Given the description of an element on the screen output the (x, y) to click on. 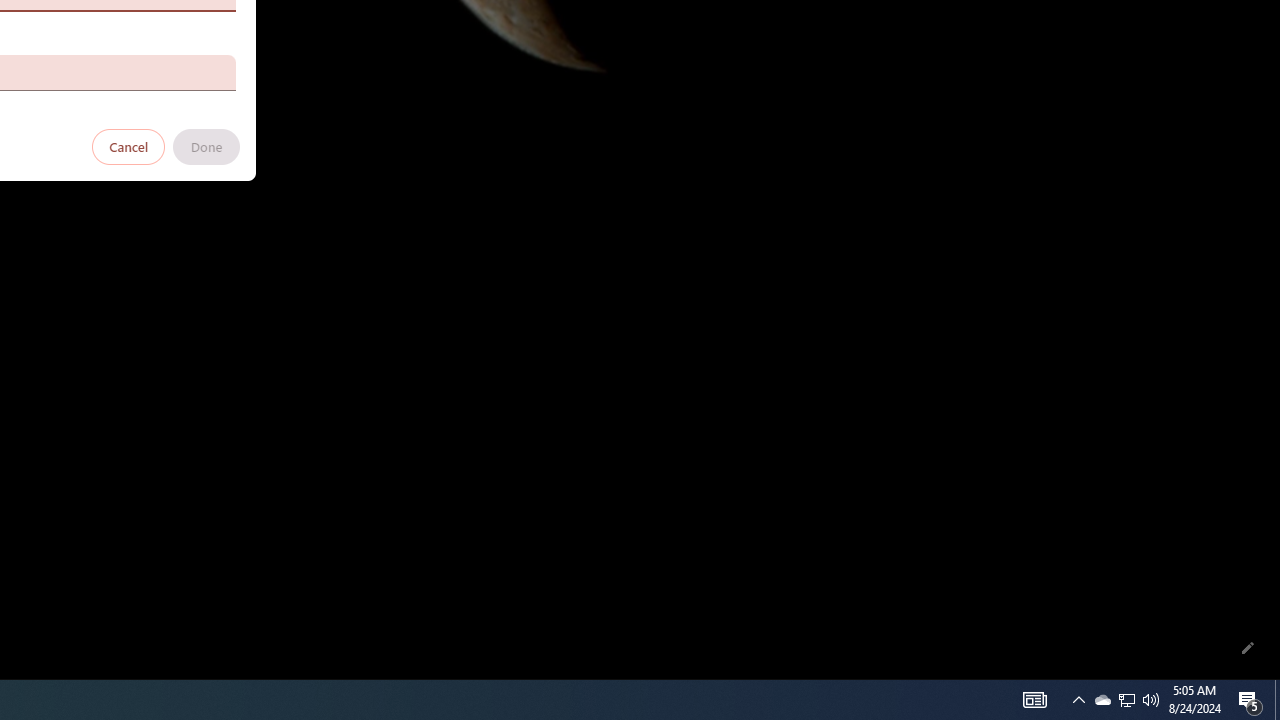
Done (206, 146)
Cancel (129, 146)
